Given the description of an element on the screen output the (x, y) to click on. 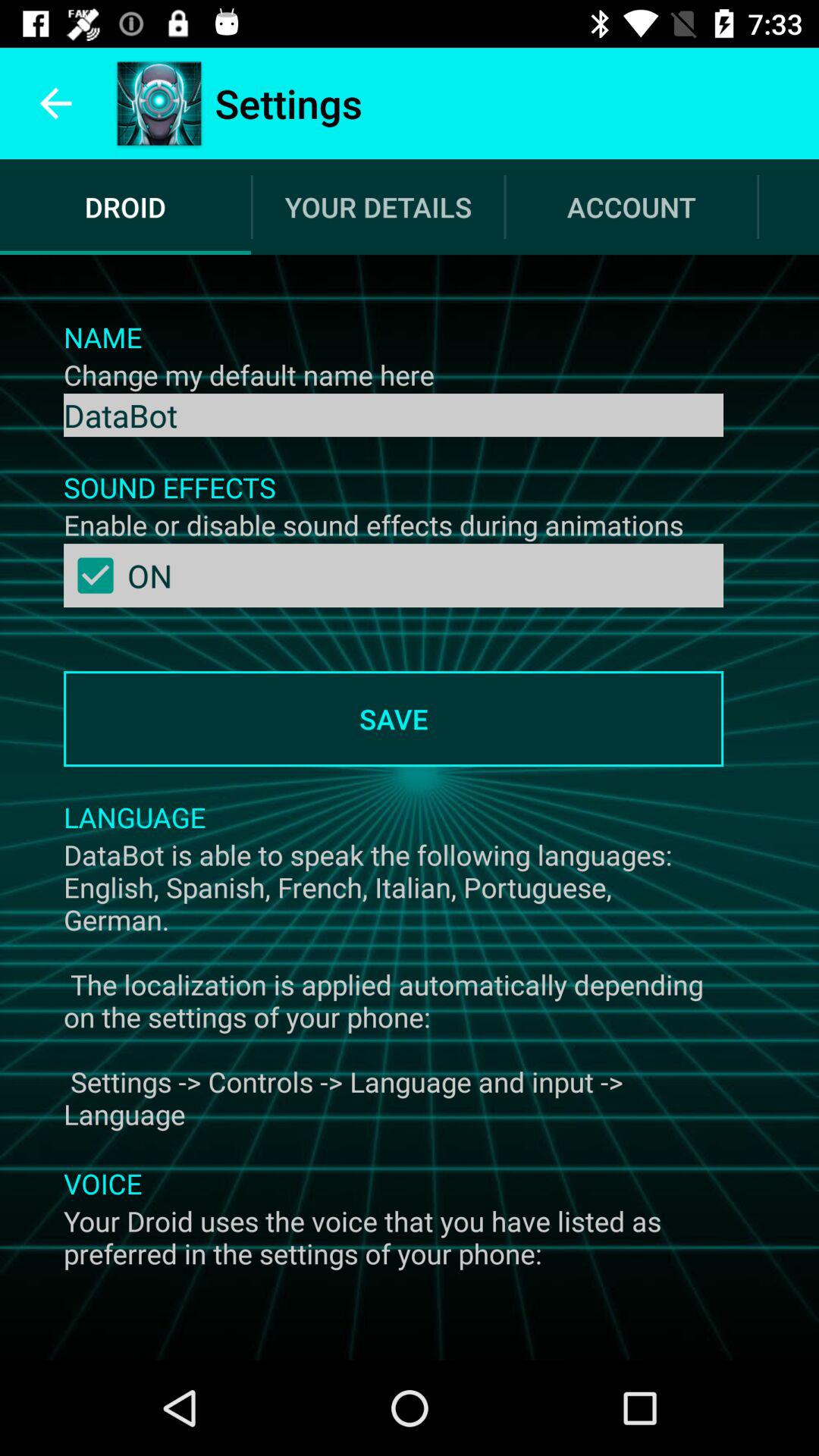
choose the save icon (393, 718)
